Given the description of an element on the screen output the (x, y) to click on. 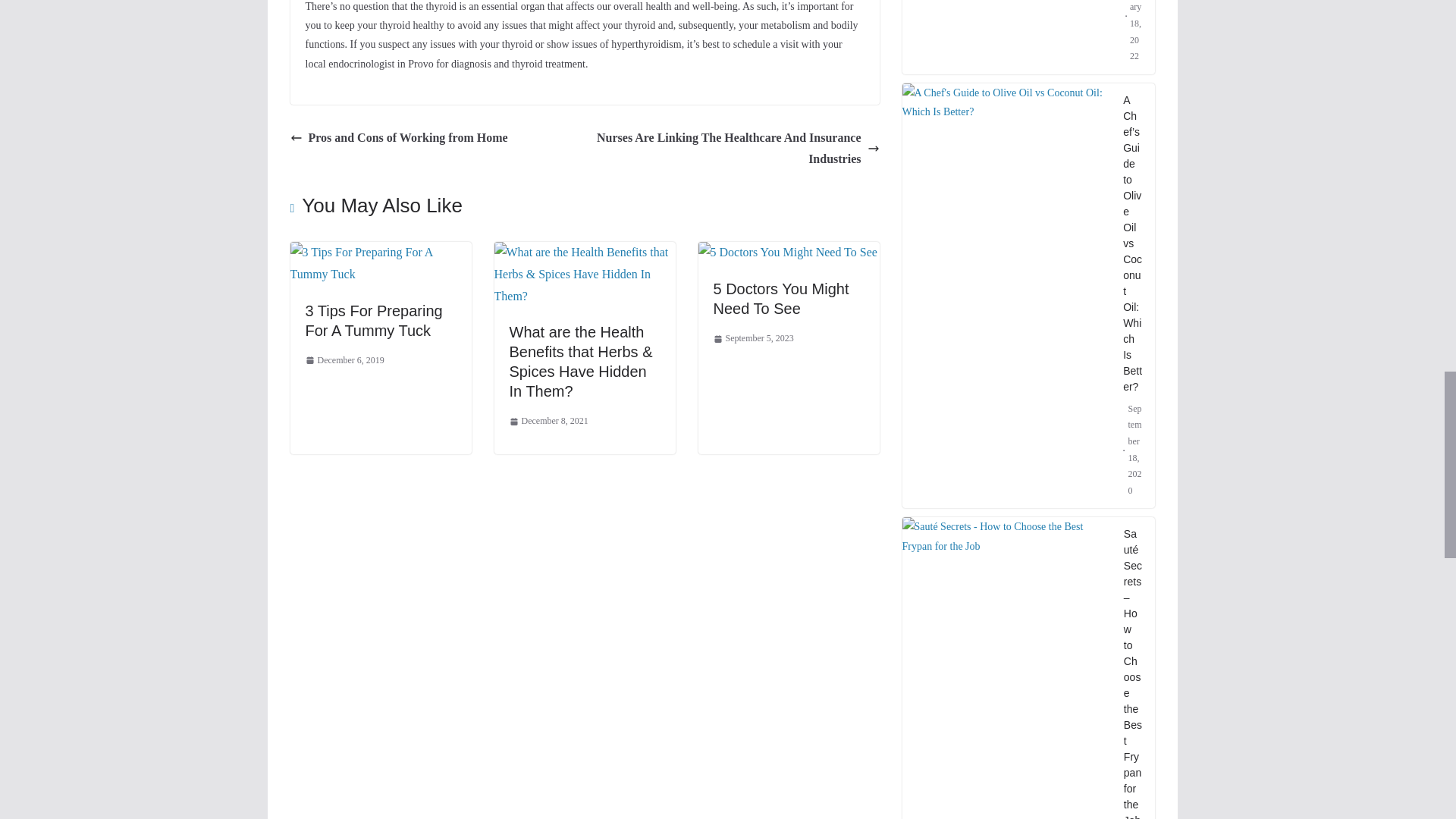
Pros and Cons of Working from Home (397, 138)
